Given the description of an element on the screen output the (x, y) to click on. 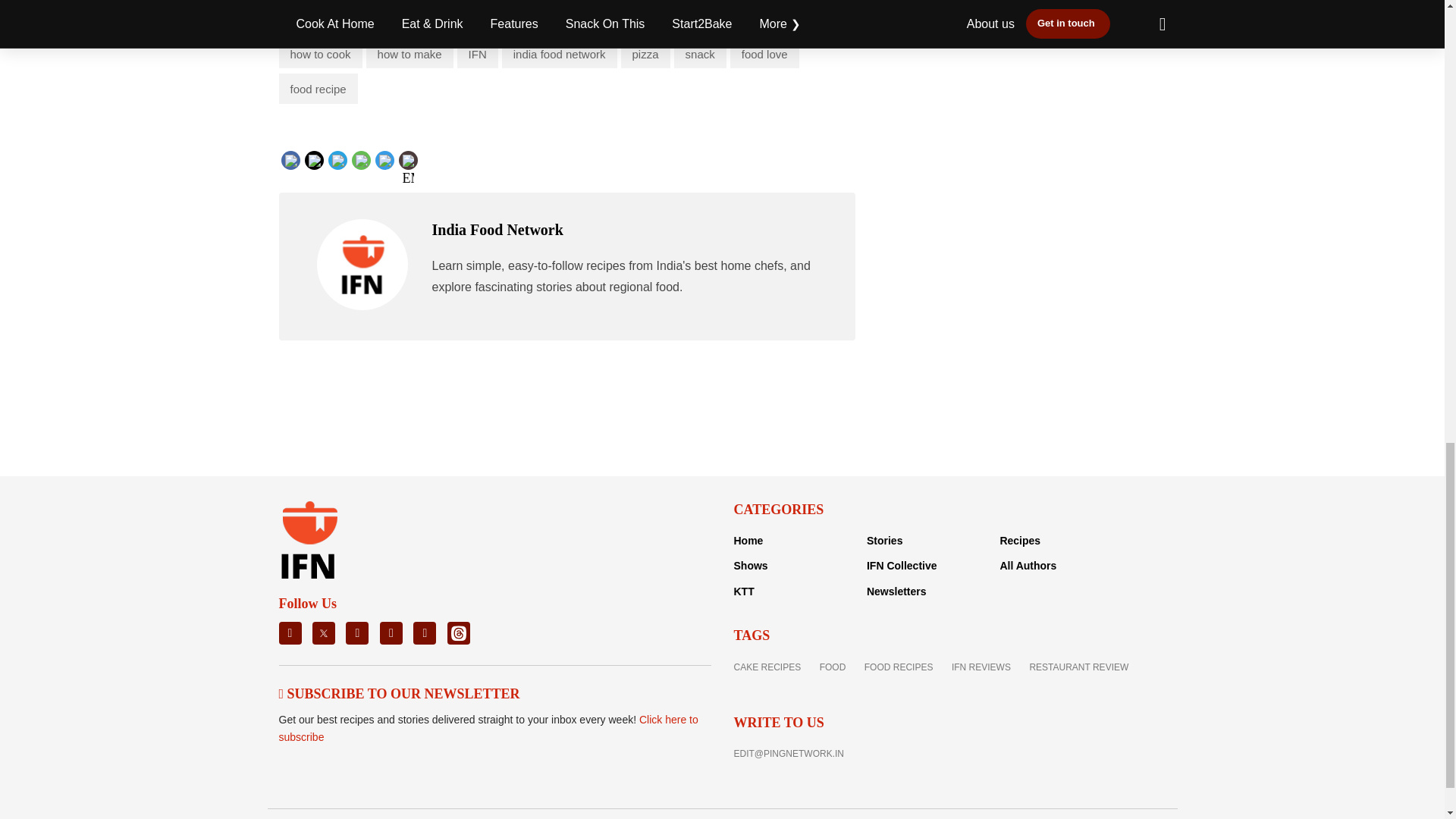
facebook (321, 171)
Twitter (338, 158)
linkedin (364, 171)
telegram (415, 171)
LinkedIn (363, 158)
twitter (337, 171)
Share by Email (407, 161)
Facebook (321, 158)
whatsapp (390, 171)
